Given the description of an element on the screen output the (x, y) to click on. 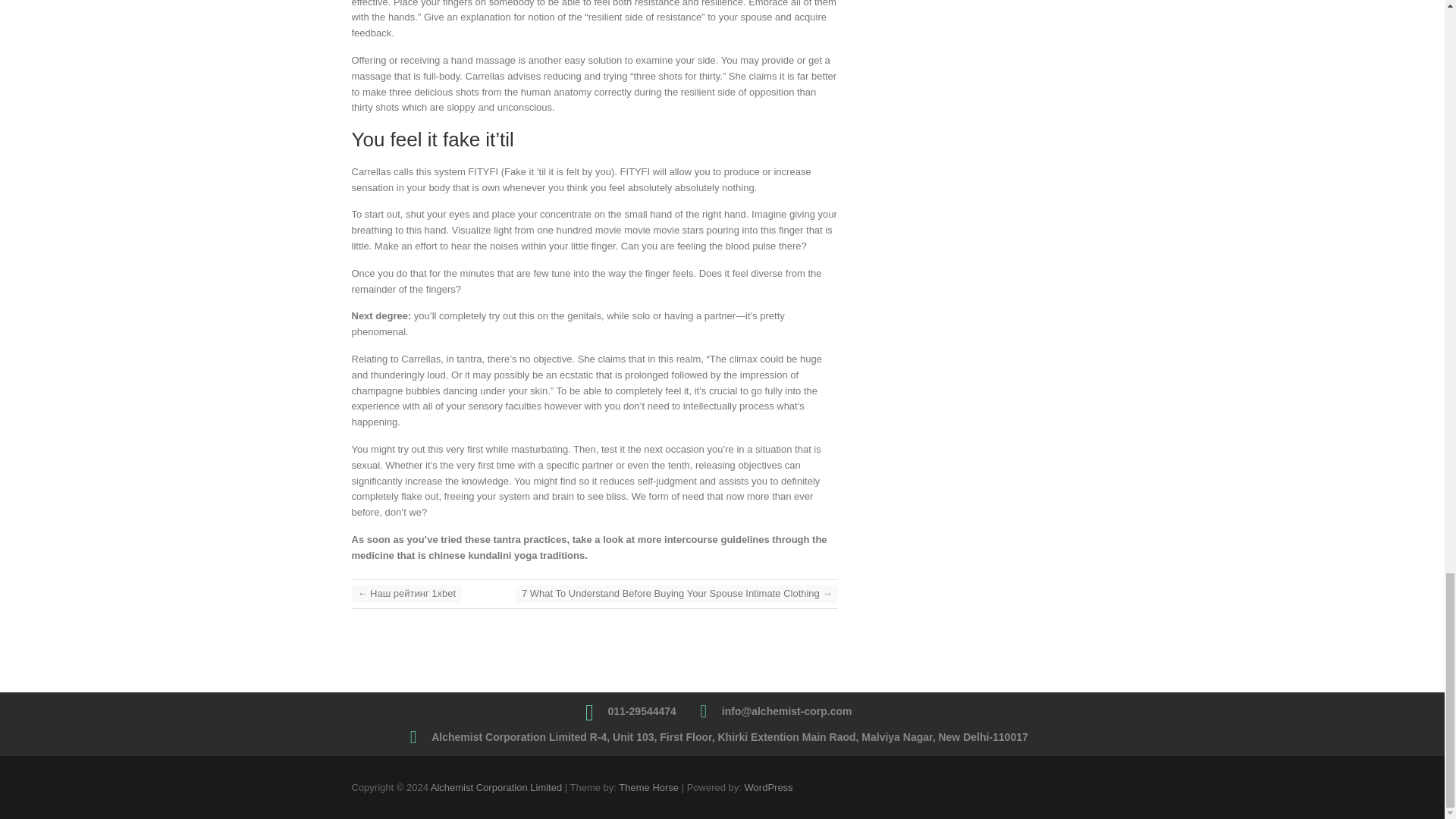
Alchemist Corporation Limited (496, 787)
WordPress (768, 787)
 Mail Us  (786, 711)
Theme Horse (648, 787)
 Call Us  (642, 711)
